Given the description of an element on the screen output the (x, y) to click on. 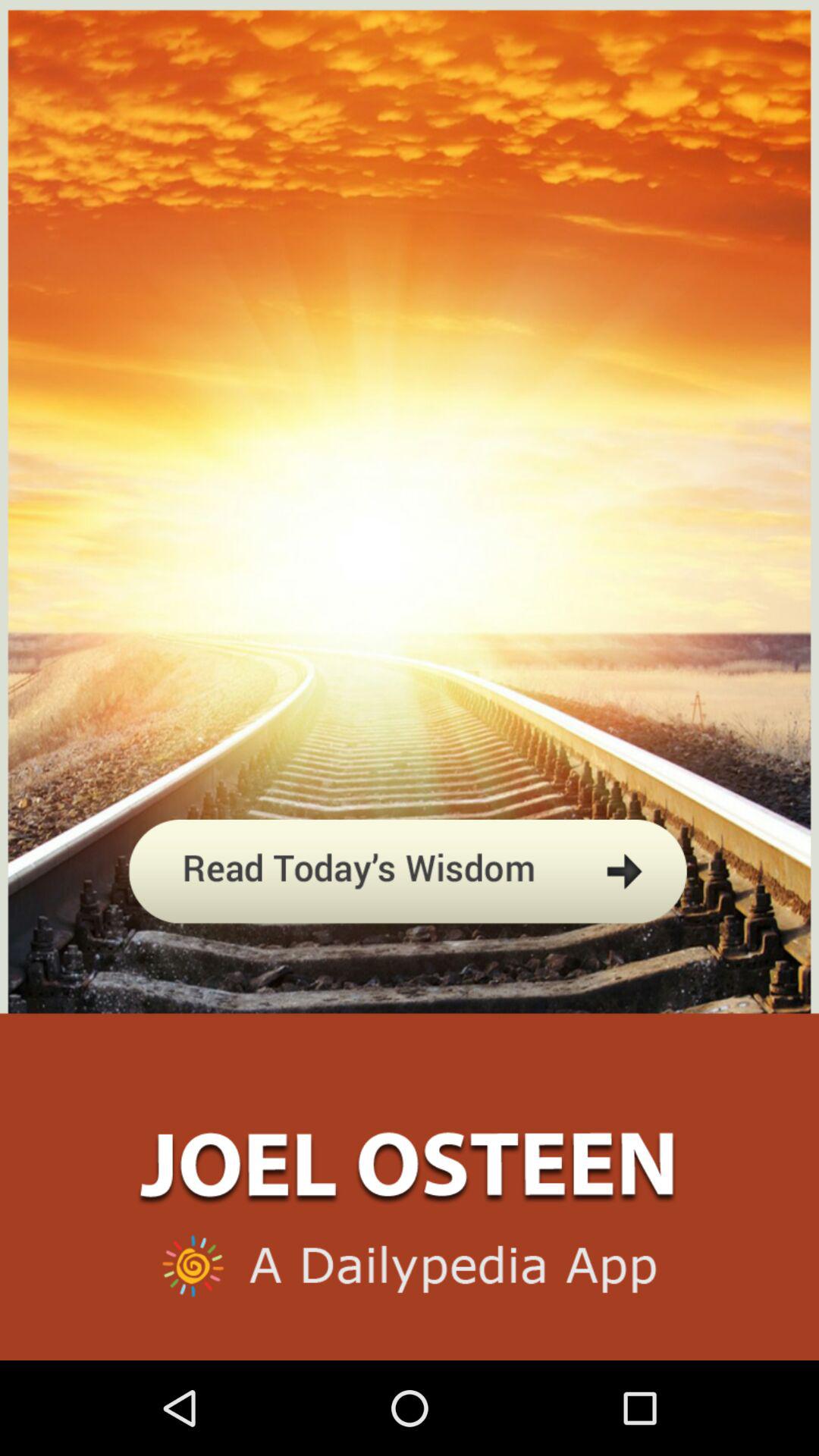
go to next page read today 's wisdom (408, 943)
